Given the description of an element on the screen output the (x, y) to click on. 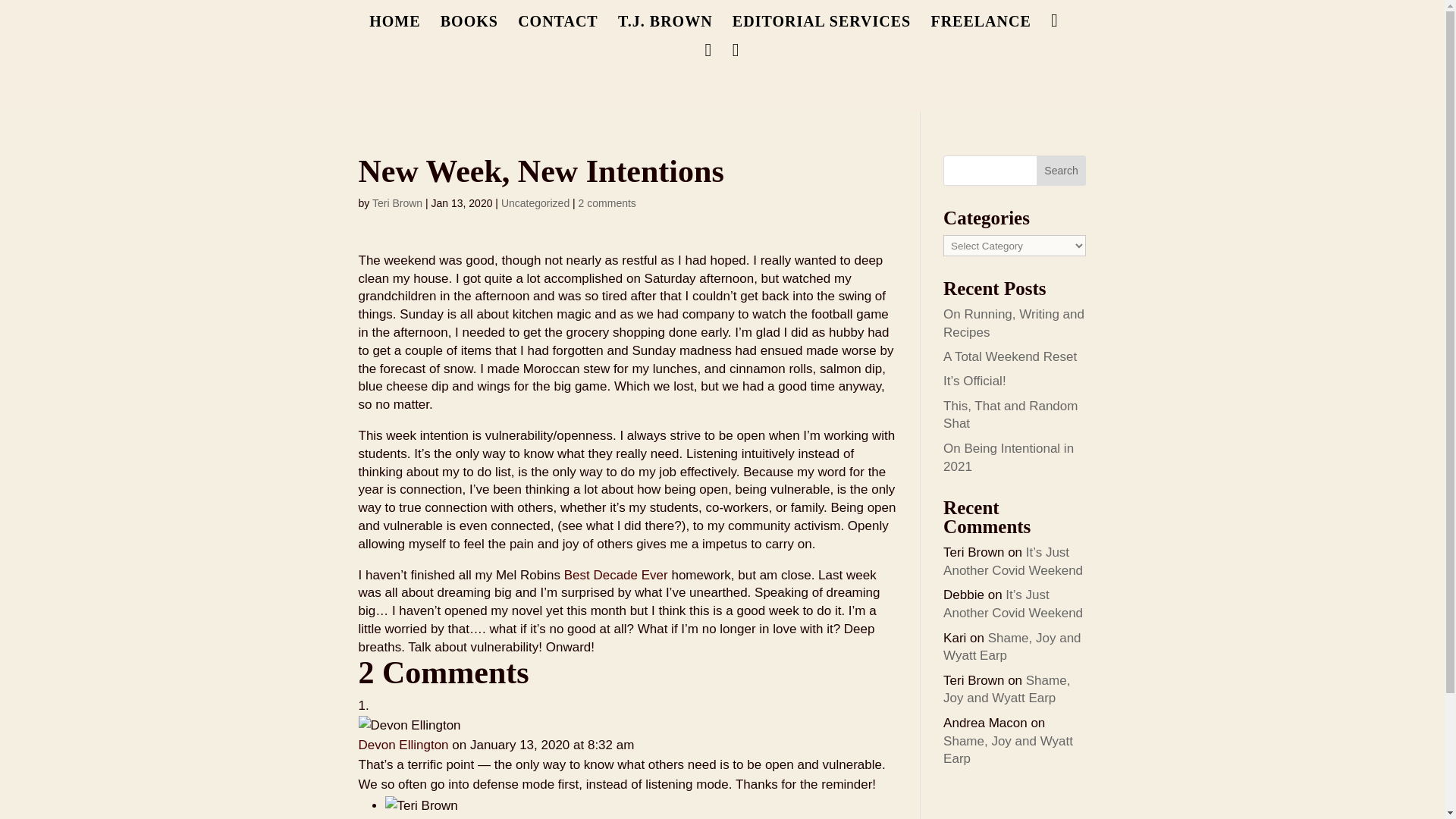
On Being Intentional in 2021 (1008, 457)
Devon Ellington (403, 744)
FREELANCE (980, 28)
2 comments (607, 203)
HOME (394, 28)
Shame, Joy and Wyatt Earp (1008, 749)
A Total Weekend Reset (1010, 356)
Best Decade Ever (616, 575)
T.J. BROWN (665, 28)
On Running, Writing and Recipes (1013, 323)
